Given the description of an element on the screen output the (x, y) to click on. 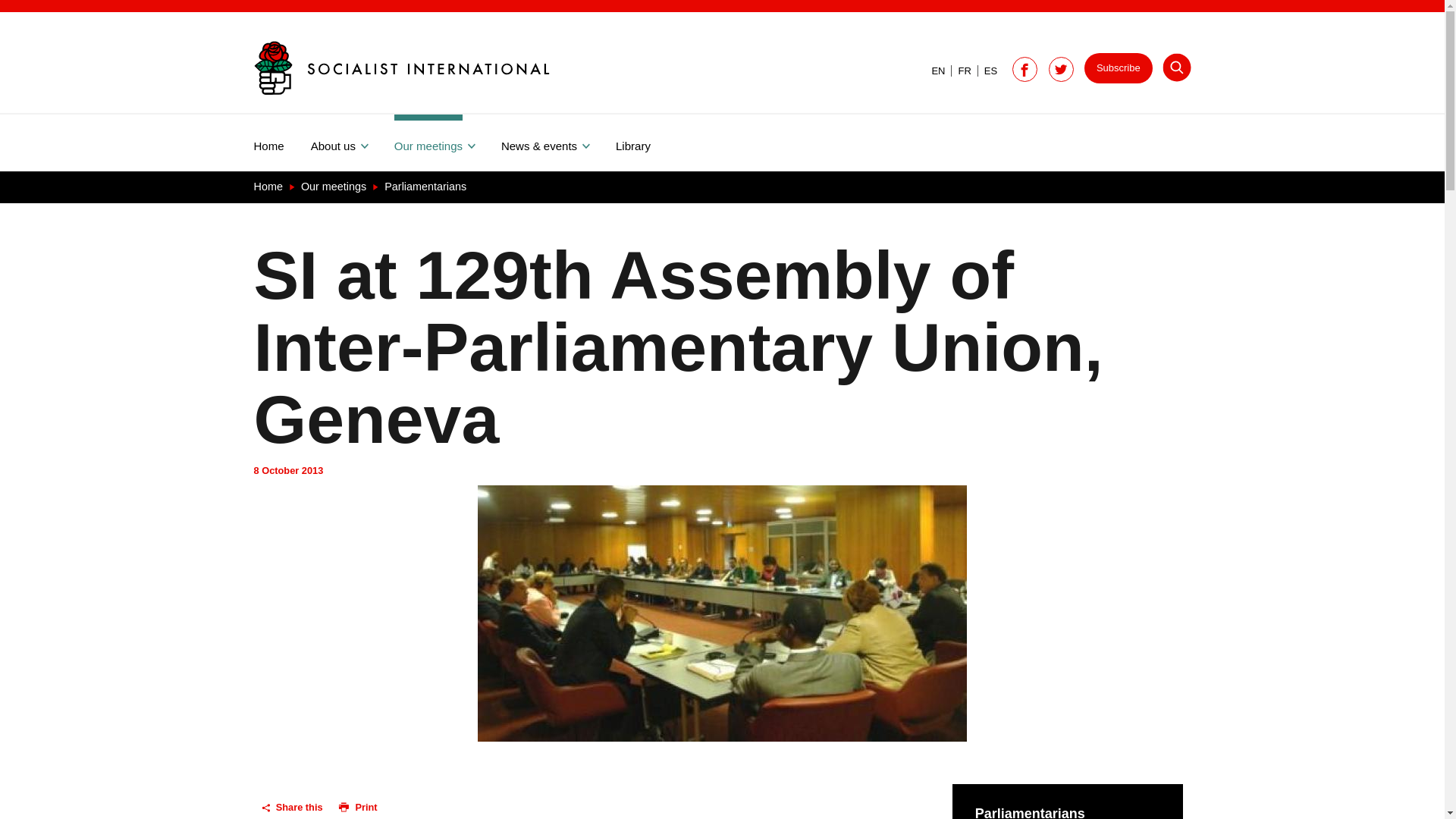
Follow Socialist International on Twitter (1061, 69)
Our meetings (447, 142)
Home (281, 142)
Subscribe (1118, 67)
Library (646, 142)
Parliamentarians (424, 186)
Socialist International on Facebook (1024, 69)
Home (269, 186)
About us (352, 142)
